Given the description of an element on the screen output the (x, y) to click on. 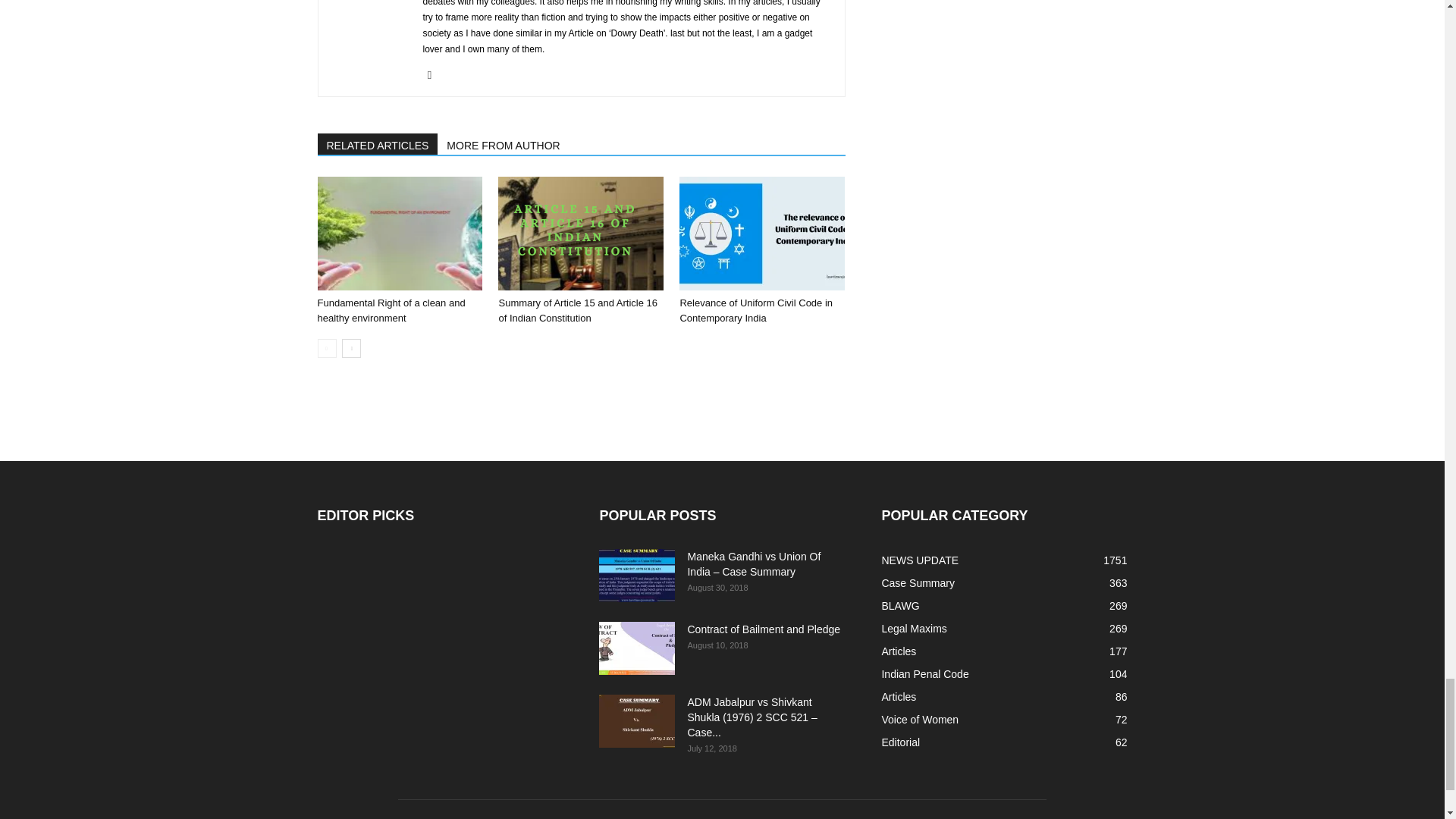
Fundamental Right of a clean and healthy environment (399, 233)
Summary of Article 15 and Article 16 of Indian Constitution (577, 310)
Linkedin (435, 75)
Relevance of Uniform Civil Code in Contemporary India (761, 233)
Fundamental Right of a clean and healthy environment (390, 310)
Relevance of Uniform Civil Code in Contemporary India (755, 310)
Summary of Article 15 and Article 16 of Indian Constitution (580, 233)
